Given the description of an element on the screen output the (x, y) to click on. 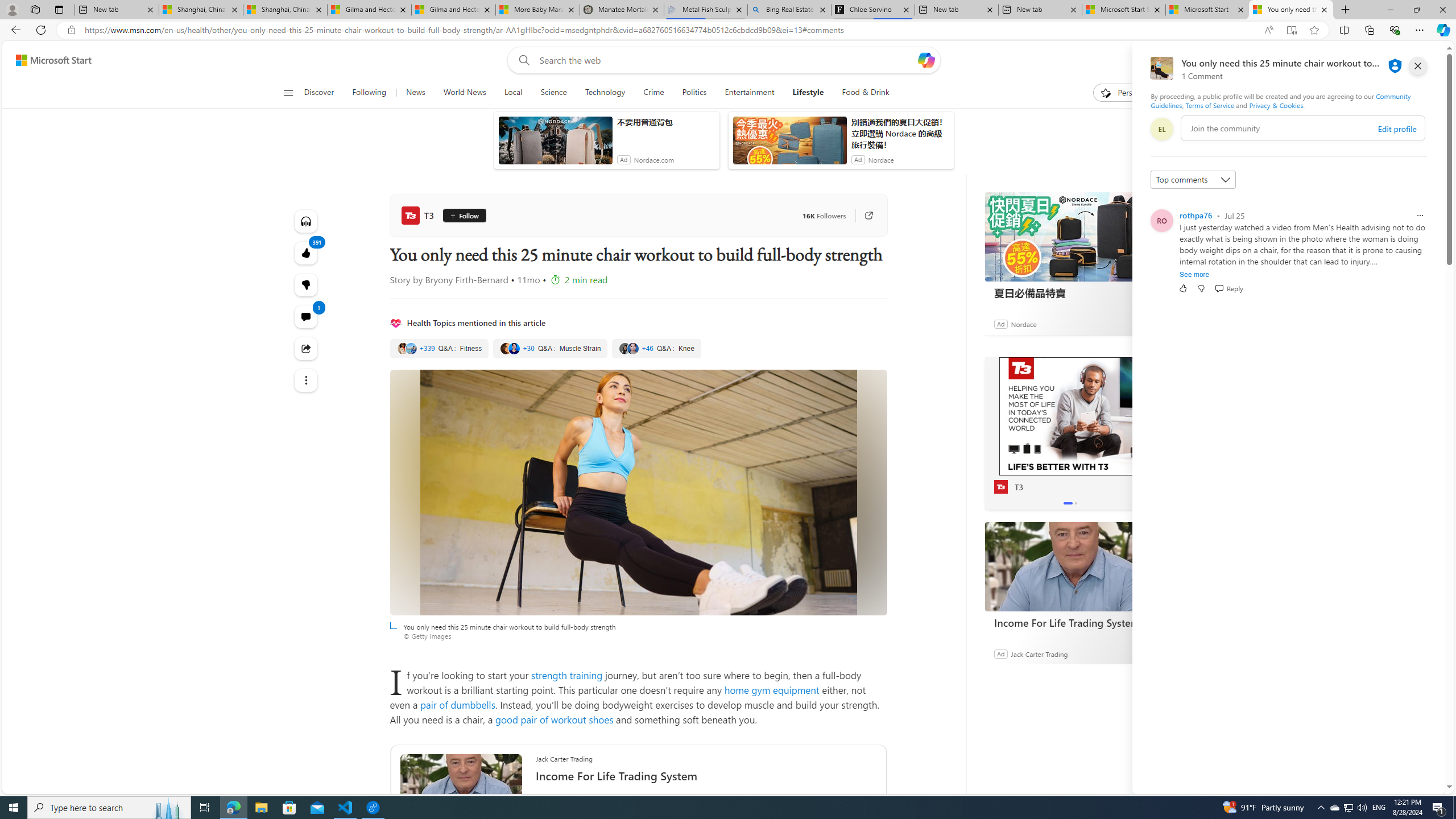
Science (553, 92)
Lifestyle (807, 92)
T3 (419, 215)
Open settings (1420, 60)
Income For Life Trading System (1070, 566)
